Given the description of an element on the screen output the (x, y) to click on. 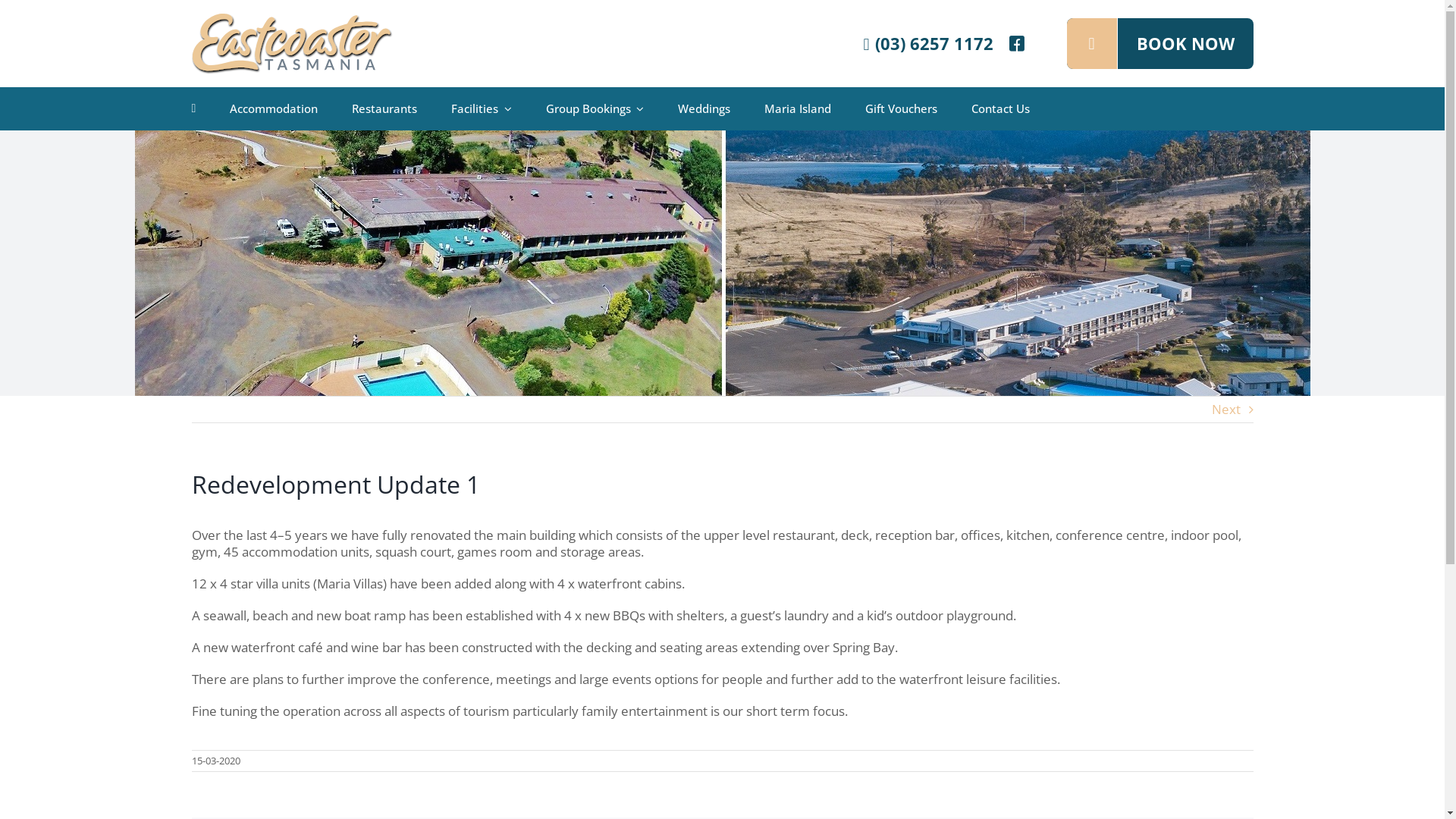
Maria Island Element type: text (797, 108)
Gift Vouchers Element type: text (901, 108)
Next Element type: text (1225, 409)
Restaurants Element type: text (384, 108)
BOOK NOW Element type: text (1159, 43)
Weddings Element type: text (703, 108)
Group Bookings Element type: text (595, 108)
Accommodation Element type: text (273, 108)
Facilities Element type: text (481, 108)
(03) 6257 1172 Element type: text (927, 42)
Contact Us Element type: text (1000, 108)
